Given the description of an element on the screen output the (x, y) to click on. 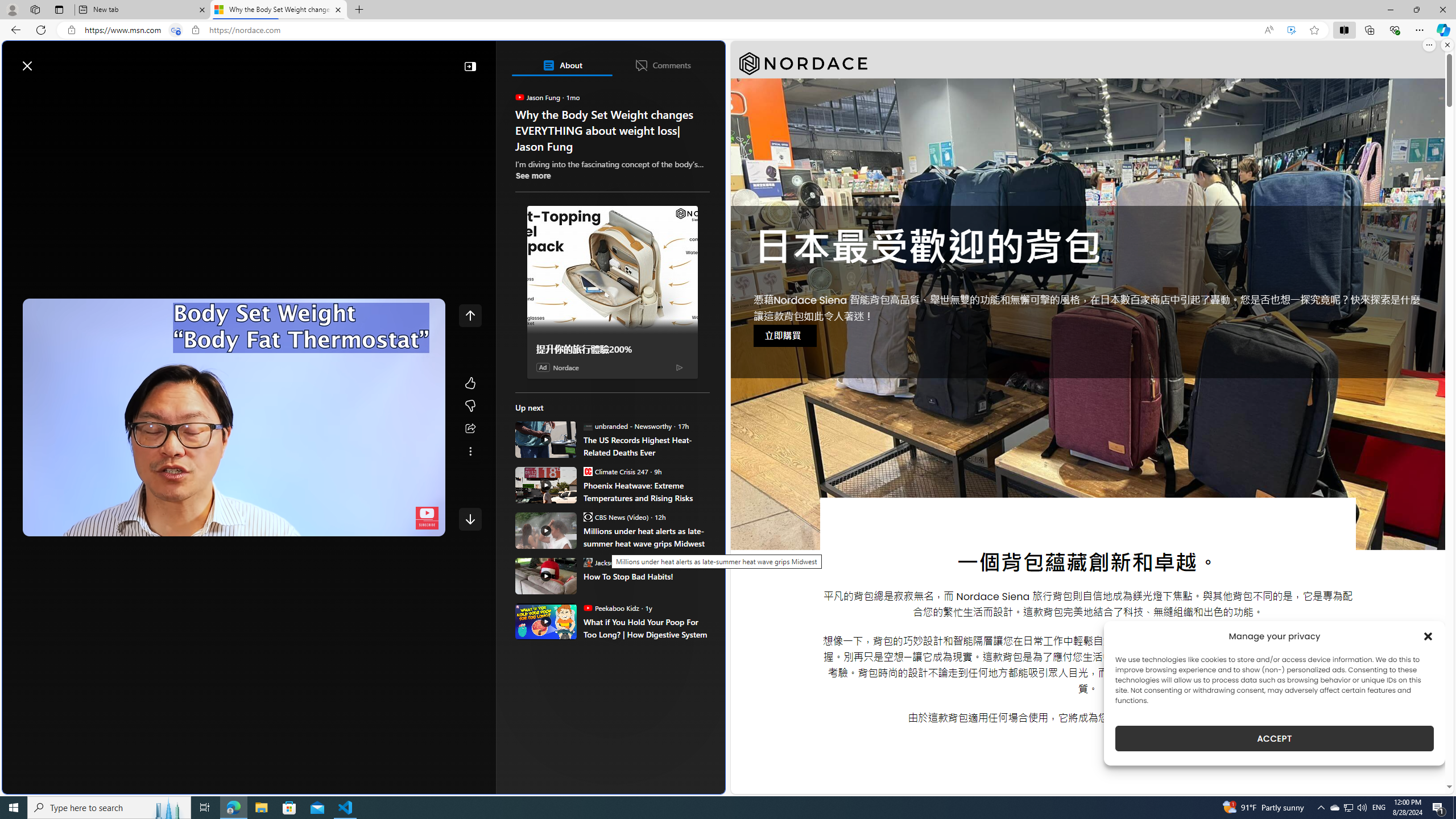
Skip to content (49, 59)
See more (533, 175)
Personal Profile (12, 9)
Ad (542, 366)
Web search (161, 60)
The Best Gift That a Traveler Can Receive (616, 163)
Discover (47, 92)
Nordace (803, 63)
App bar (728, 29)
Following (98, 92)
Collapse (469, 65)
Enter your search term (366, 59)
